Given the description of an element on the screen output the (x, y) to click on. 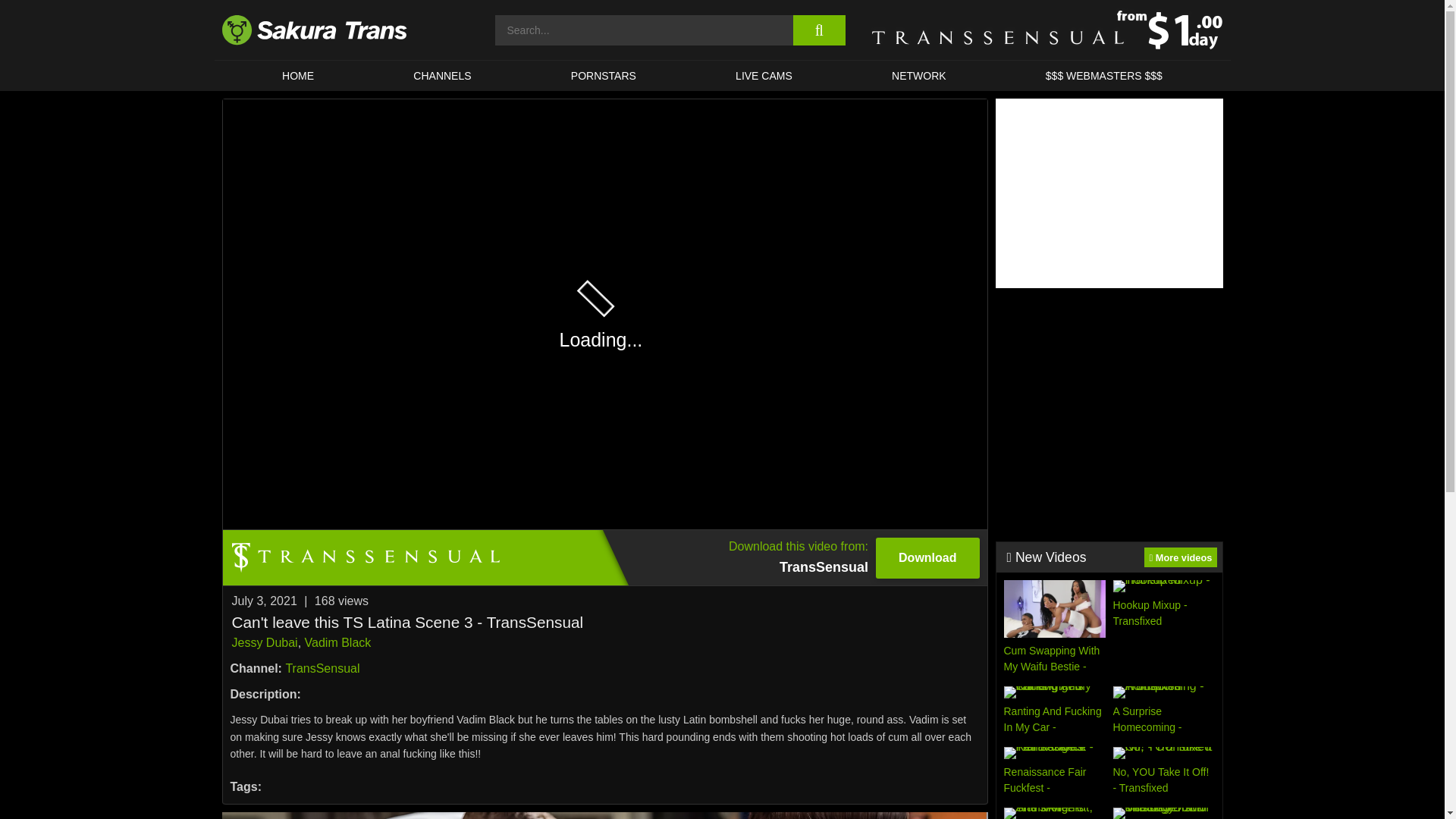
NETWORK (918, 75)
Jessy Dubai (264, 642)
Vadim Black (604, 557)
CHANNELS (337, 642)
HOME (442, 75)
TransSensual (296, 75)
PORNSTARS (322, 667)
LIVE CAMS (603, 75)
